Given the description of an element on the screen output the (x, y) to click on. 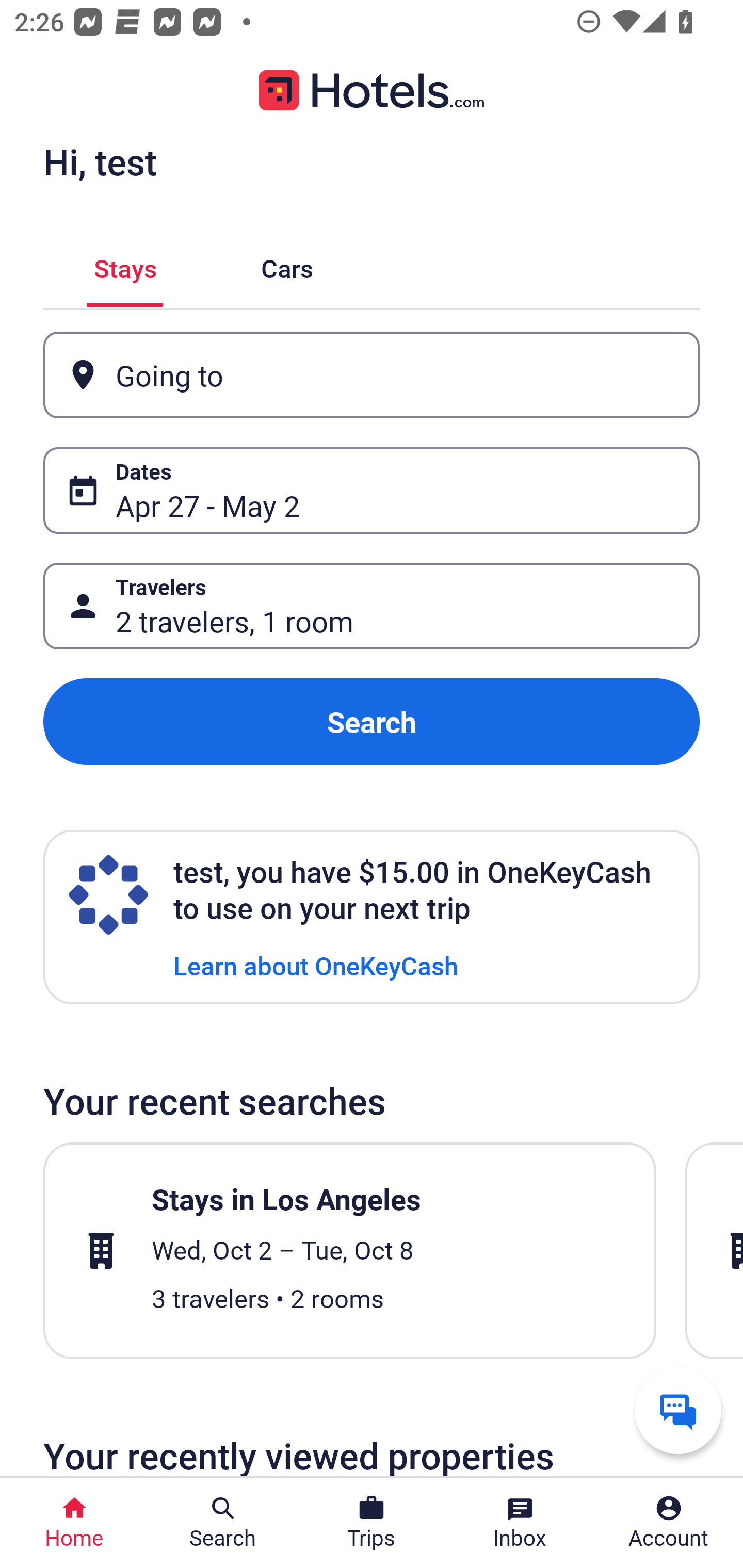
Hi, test (99, 161)
Cars (286, 265)
Going to Button (371, 375)
Dates Button Apr 27 - May 2 (371, 489)
Travelers Button 2 travelers, 1 room (371, 605)
Search (371, 721)
Learn about OneKeyCash Learn about OneKeyCash Link (315, 964)
Get help from a virtual agent (677, 1410)
Search Search Button (222, 1522)
Trips Trips Button (371, 1522)
Inbox Inbox Button (519, 1522)
Account Profile. Button (668, 1522)
